Given the description of an element on the screen output the (x, y) to click on. 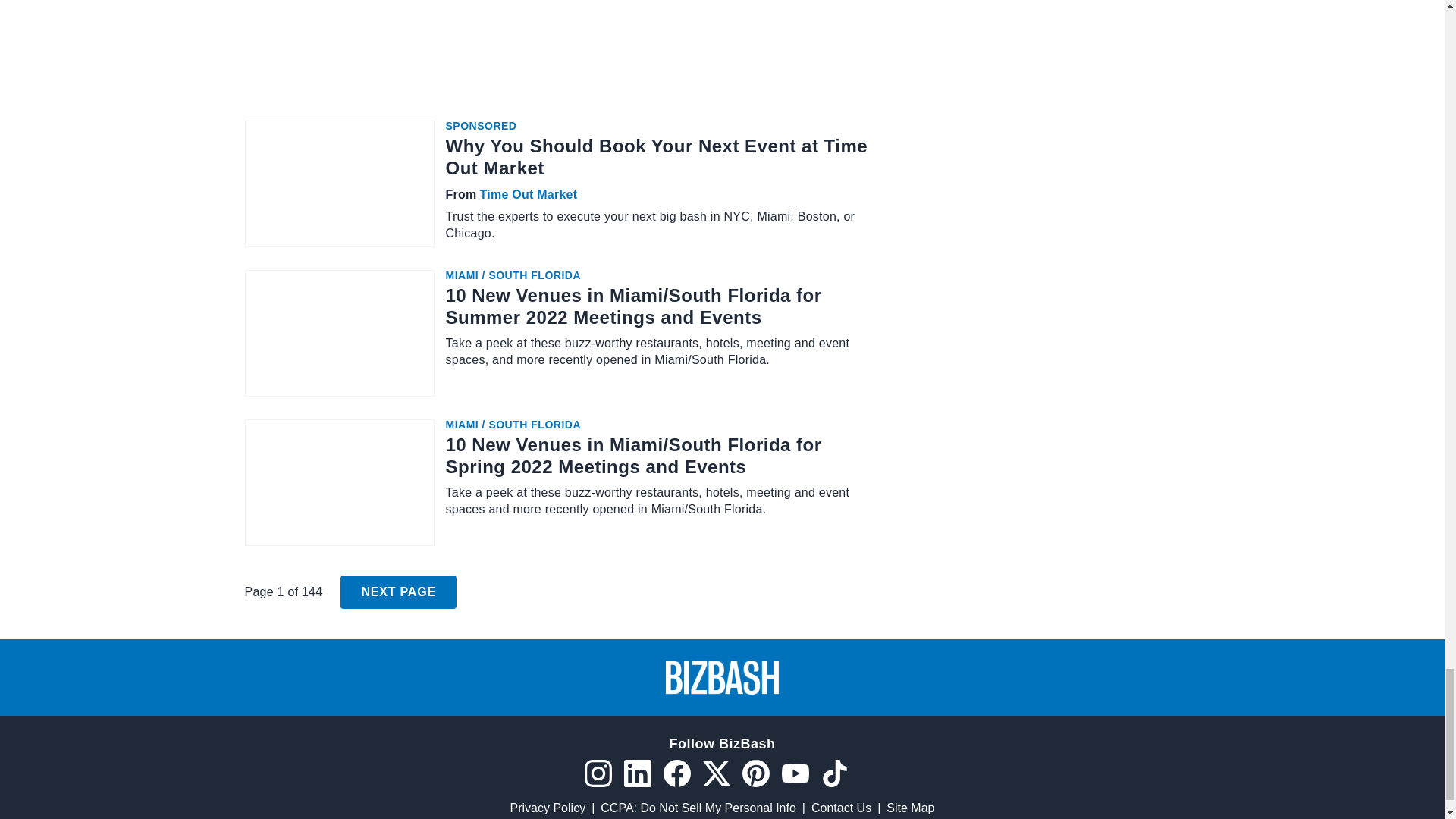
Facebook icon (676, 773)
Twitter X icon (715, 773)
YouTube icon (794, 773)
Pinterest icon (754, 773)
Instagram icon (597, 773)
TikTok (834, 773)
LinkedIn icon (636, 773)
